Given the description of an element on the screen output the (x, y) to click on. 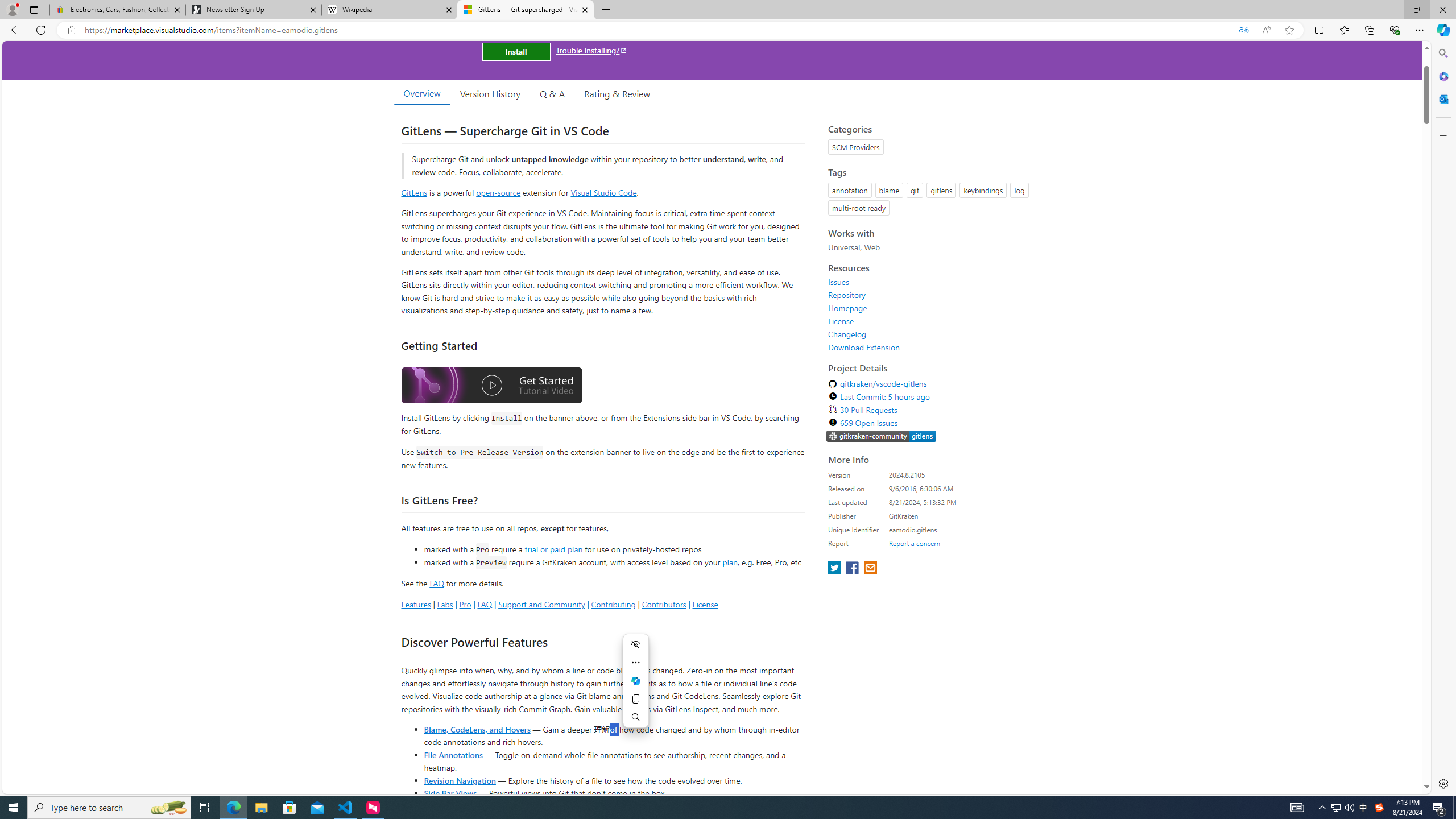
Labs (444, 603)
Download Extension (863, 346)
Blame, CodeLens, and Hovers (476, 728)
trial or paid plan (553, 548)
Report a concern (914, 542)
Version History (489, 92)
Revision Navigation (459, 780)
File Annotations (453, 754)
